Given the description of an element on the screen output the (x, y) to click on. 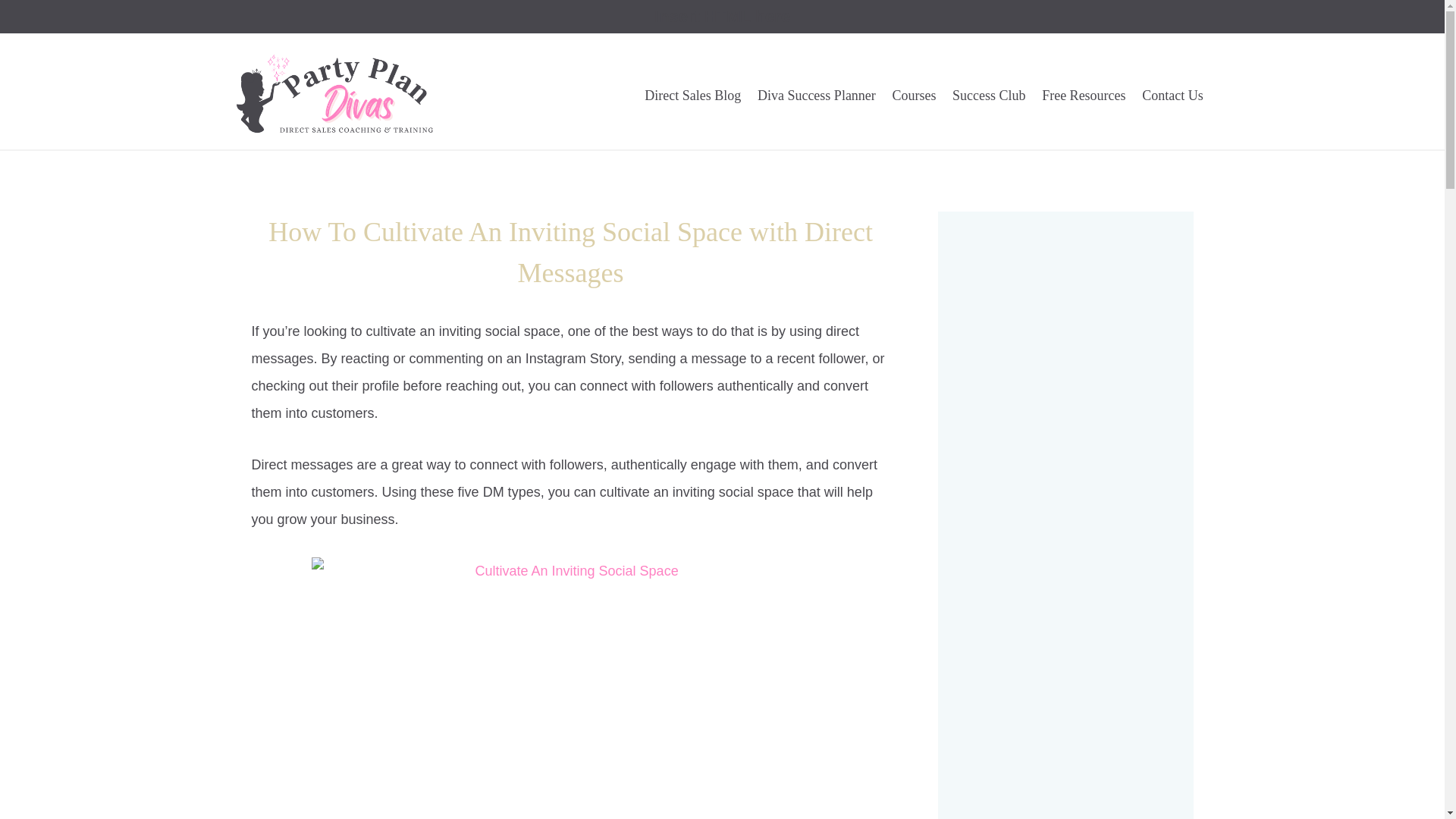
Diva Success Planner (816, 95)
Direct Sales Blog (693, 95)
Free Resources (1083, 95)
Courses (913, 95)
Contact Us (1172, 95)
Success Club (988, 95)
